Given the description of an element on the screen output the (x, y) to click on. 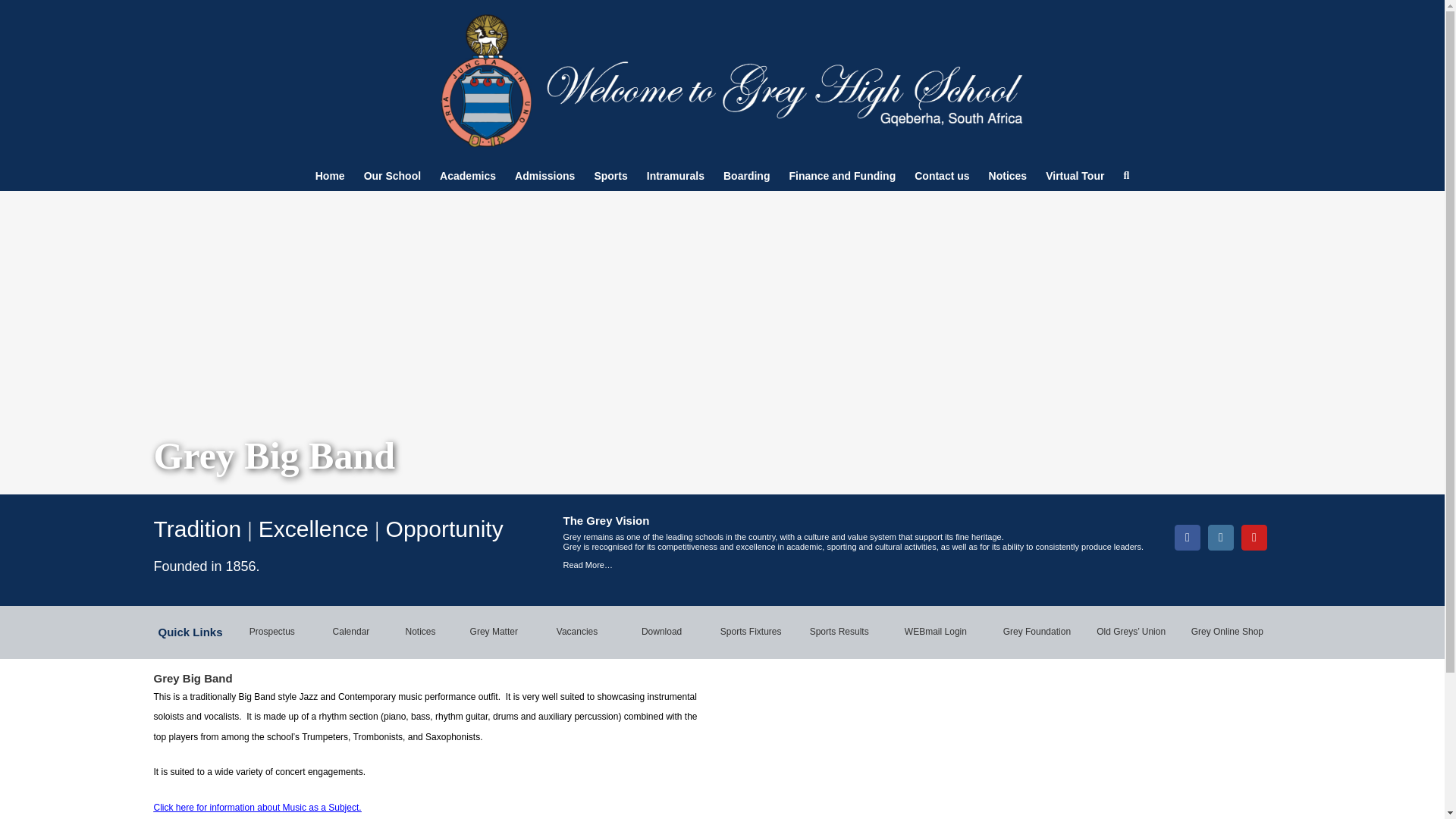
Facebook (1186, 537)
Home (330, 175)
Our School (392, 175)
band5 (858, 750)
Search (1125, 175)
YouTube (1253, 537)
Academics (467, 175)
Instagram (1220, 537)
